Given the description of an element on the screen output the (x, y) to click on. 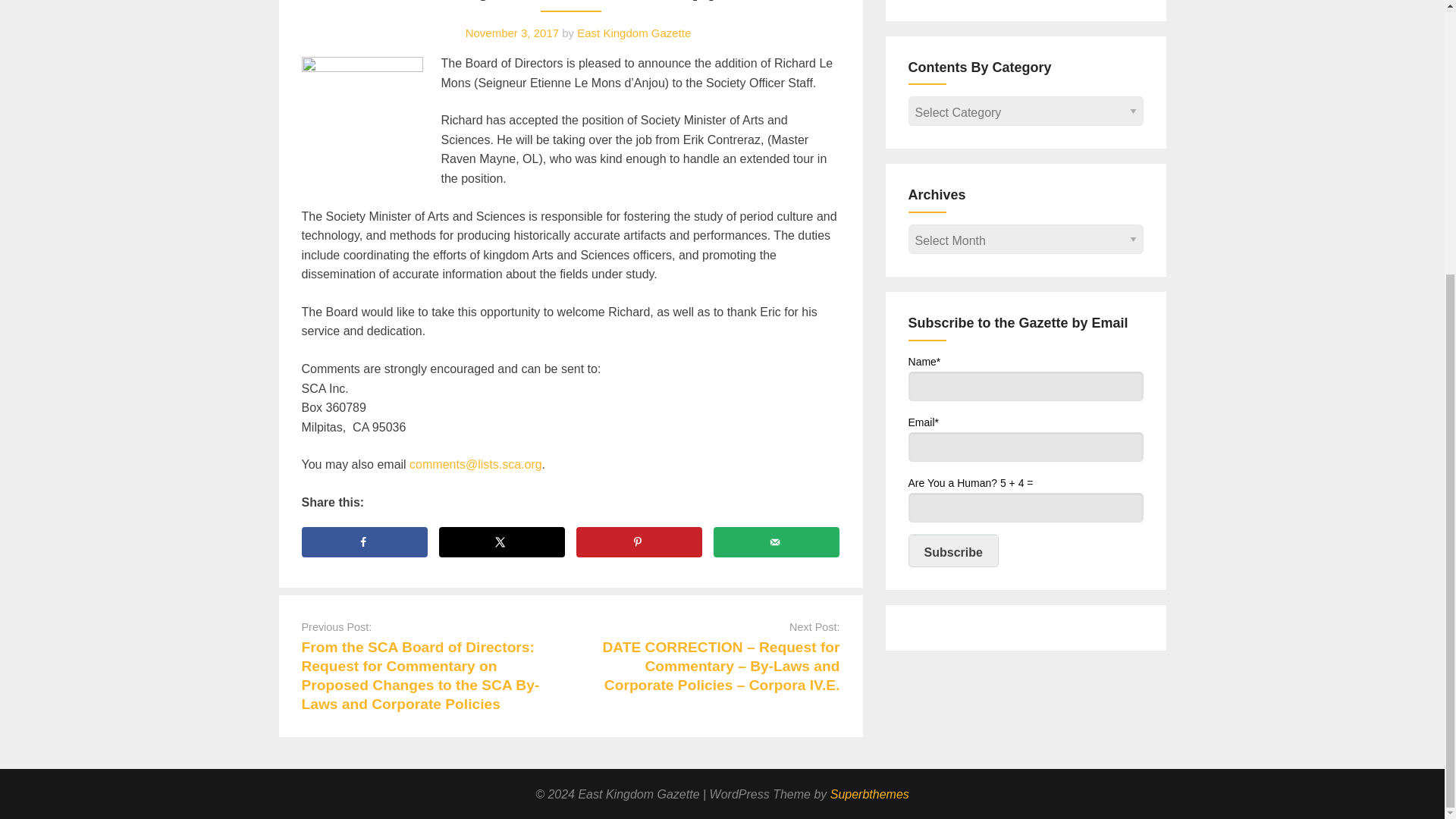
Subscribe (953, 550)
Share on Facebook (364, 542)
Send over email (776, 542)
Share on X (502, 542)
November 3, 2017 (512, 32)
Save to Pinterest (639, 542)
Superbthemes (868, 793)
Subscribe (953, 550)
